Given the description of an element on the screen output the (x, y) to click on. 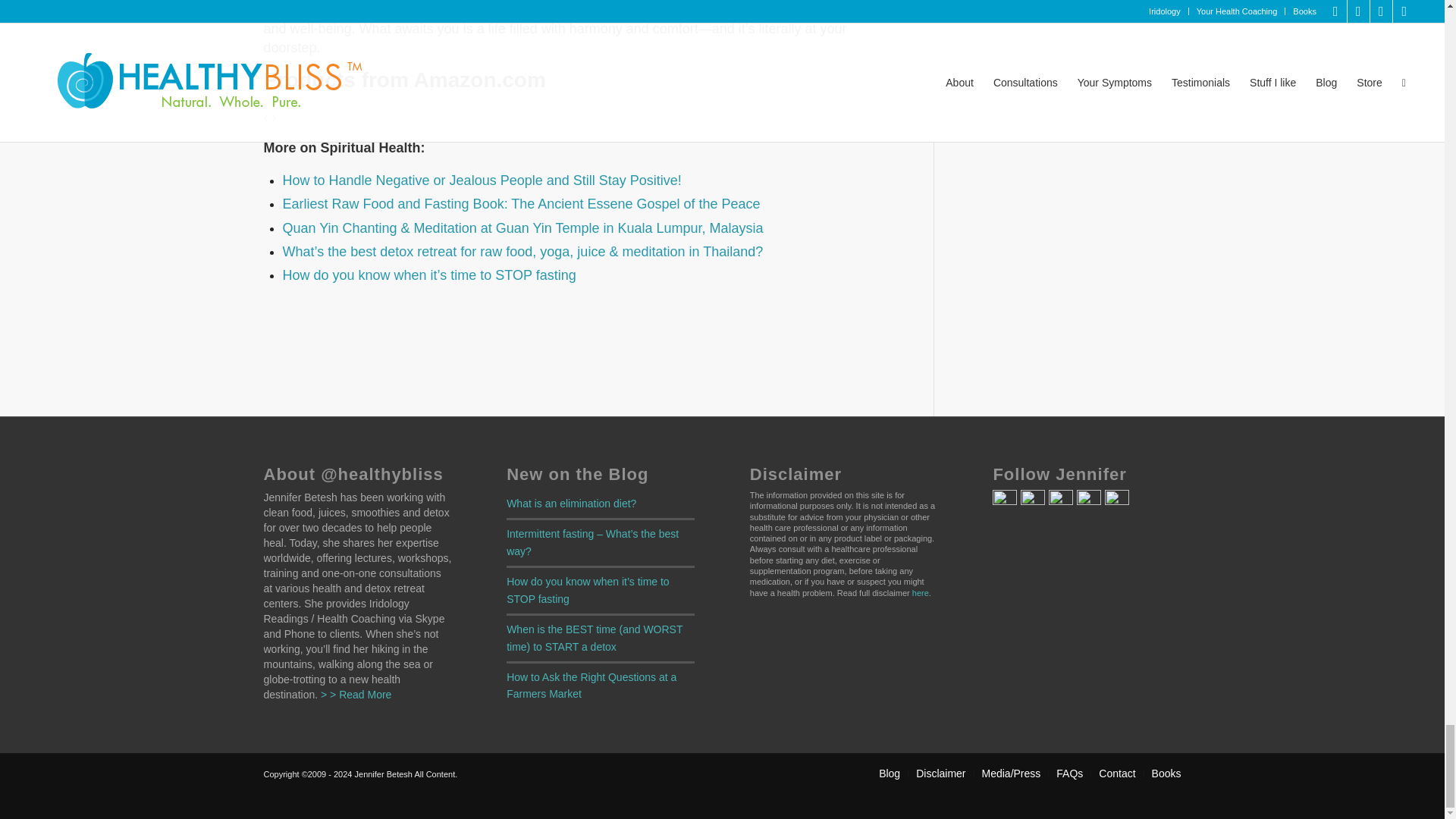
Youtube (1088, 500)
Pinterest (1032, 500)
Instagram (1060, 500)
RSS (1117, 500)
Facebook (1004, 500)
